Given the description of an element on the screen output the (x, y) to click on. 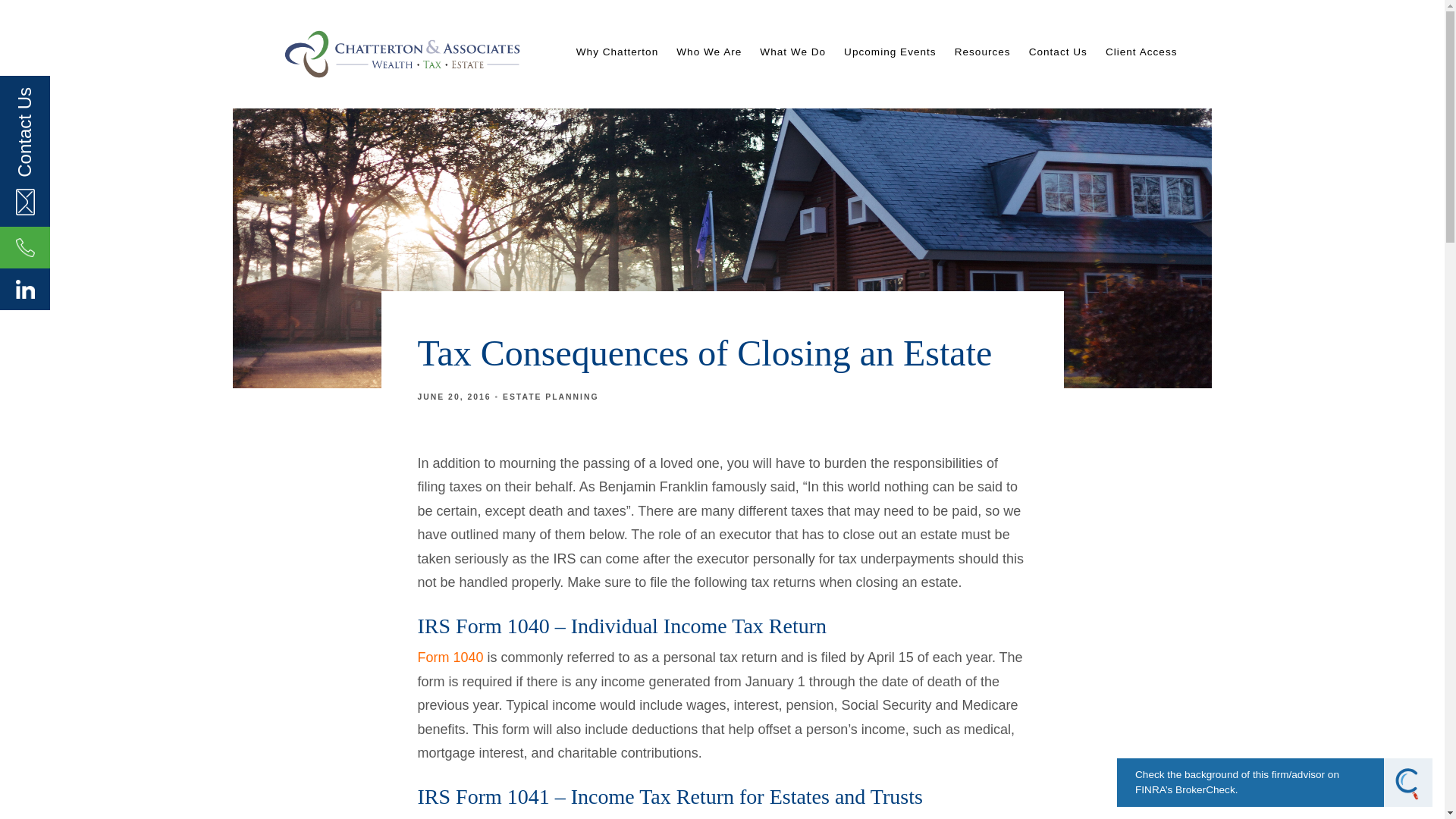
Why Chatterton (617, 52)
Contact Us (1058, 52)
Resources (982, 52)
Form 1040 (449, 657)
Who We Are (709, 52)
What We Do (792, 52)
Upcoming Events (890, 52)
Client Access (1141, 52)
ESTATE PLANNING (550, 397)
